Given the description of an element on the screen output the (x, y) to click on. 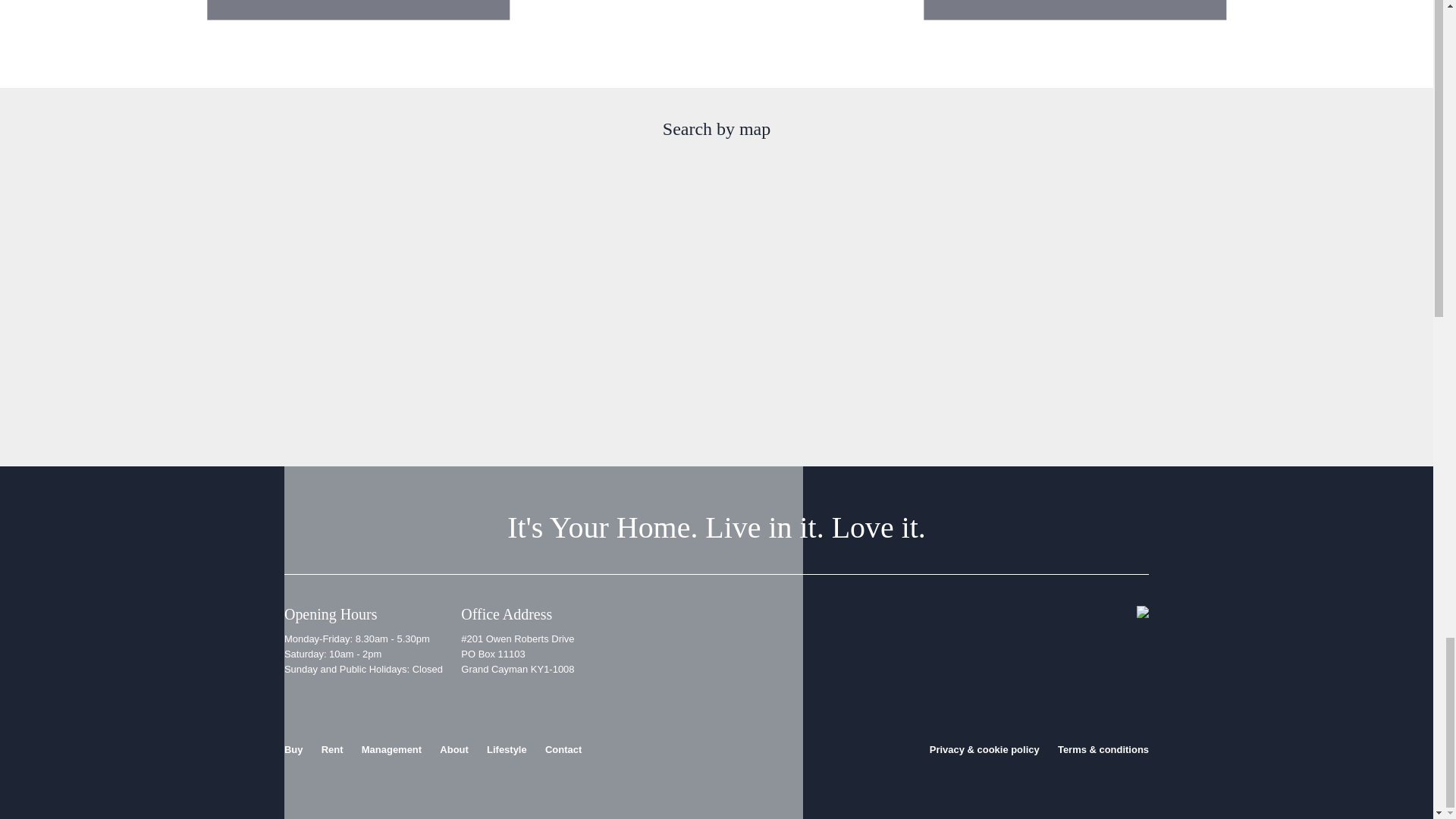
Lifestyle (506, 749)
About (454, 749)
Contact (563, 749)
Management (391, 749)
Buy (293, 749)
Rent (332, 749)
